Given the description of an element on the screen output the (x, y) to click on. 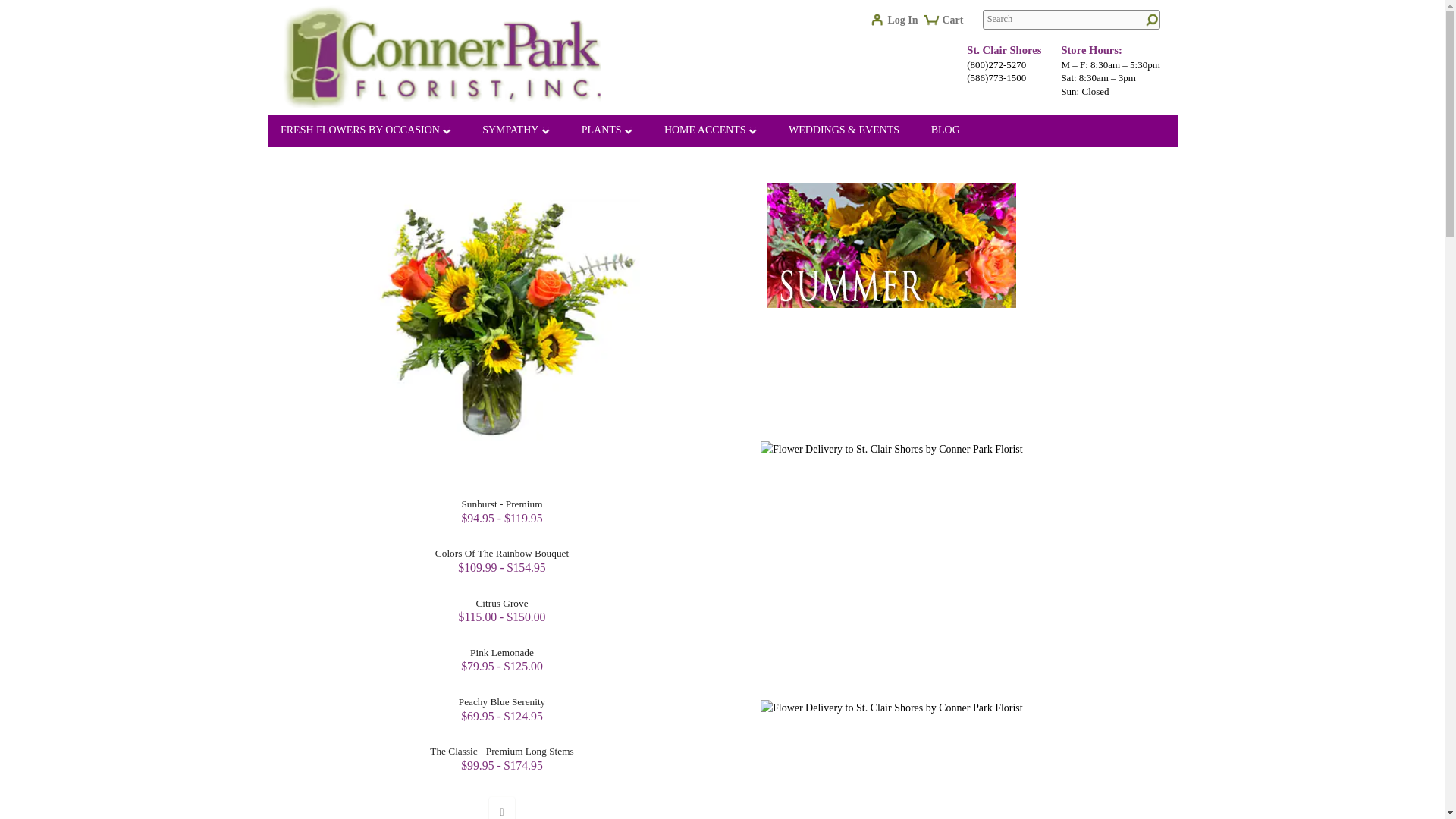
Search (1071, 19)
Cart (948, 26)
log In (898, 23)
PLANTS (606, 132)
SYMPATHY (515, 132)
FRESH FLOWERS BY OCCASION (365, 132)
Log In (898, 23)
Go (1149, 20)
